Given the description of an element on the screen output the (x, y) to click on. 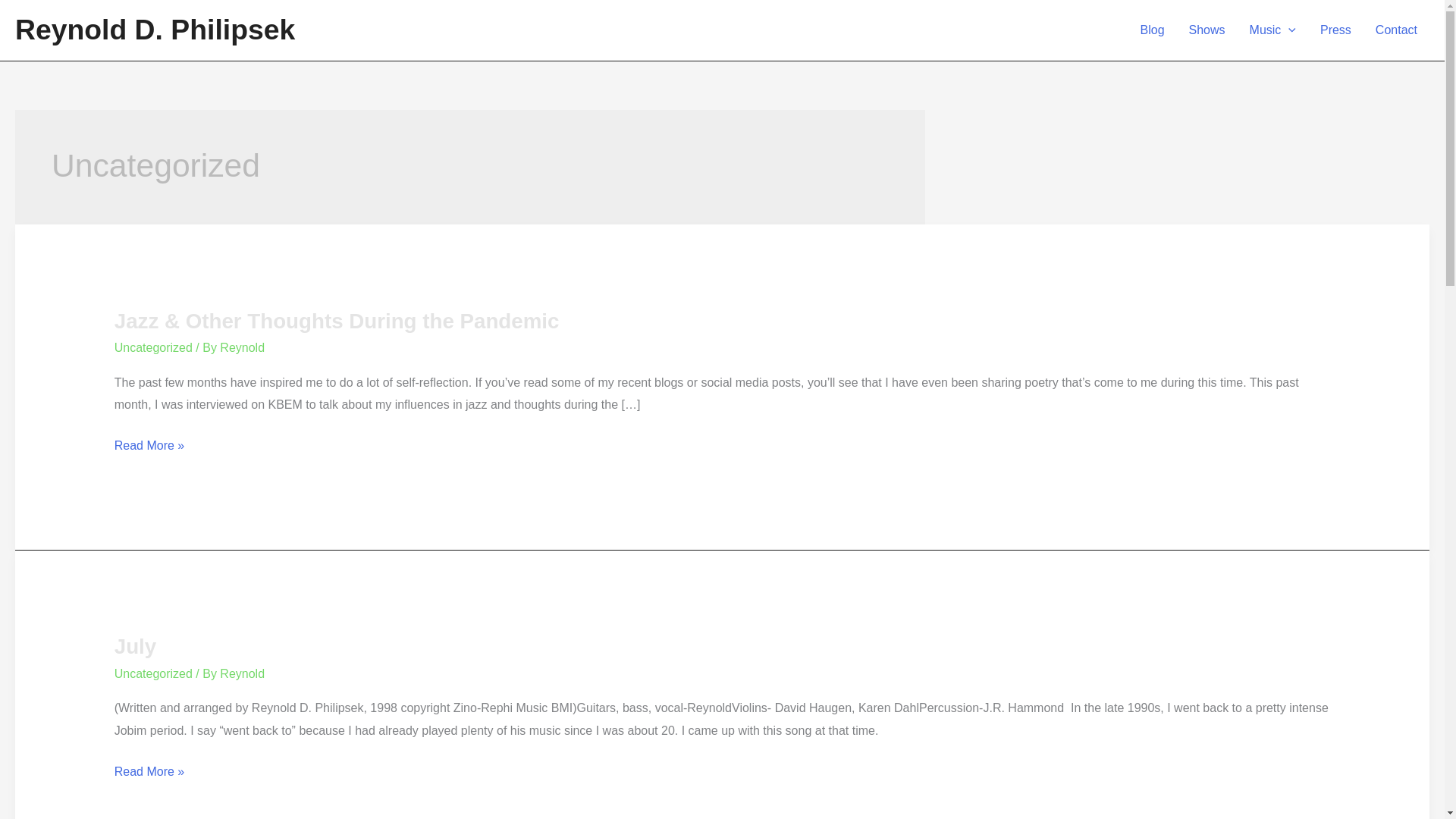
Shows (1206, 30)
Press (1334, 30)
View all posts by Reynold (241, 347)
View all posts by Reynold (241, 673)
July (135, 646)
Reynold D. Philipsek (154, 29)
Uncategorized (153, 673)
Contact (1395, 30)
Reynold (241, 347)
Uncategorized (153, 347)
Music (1272, 30)
Reynold (241, 673)
